Given the description of an element on the screen output the (x, y) to click on. 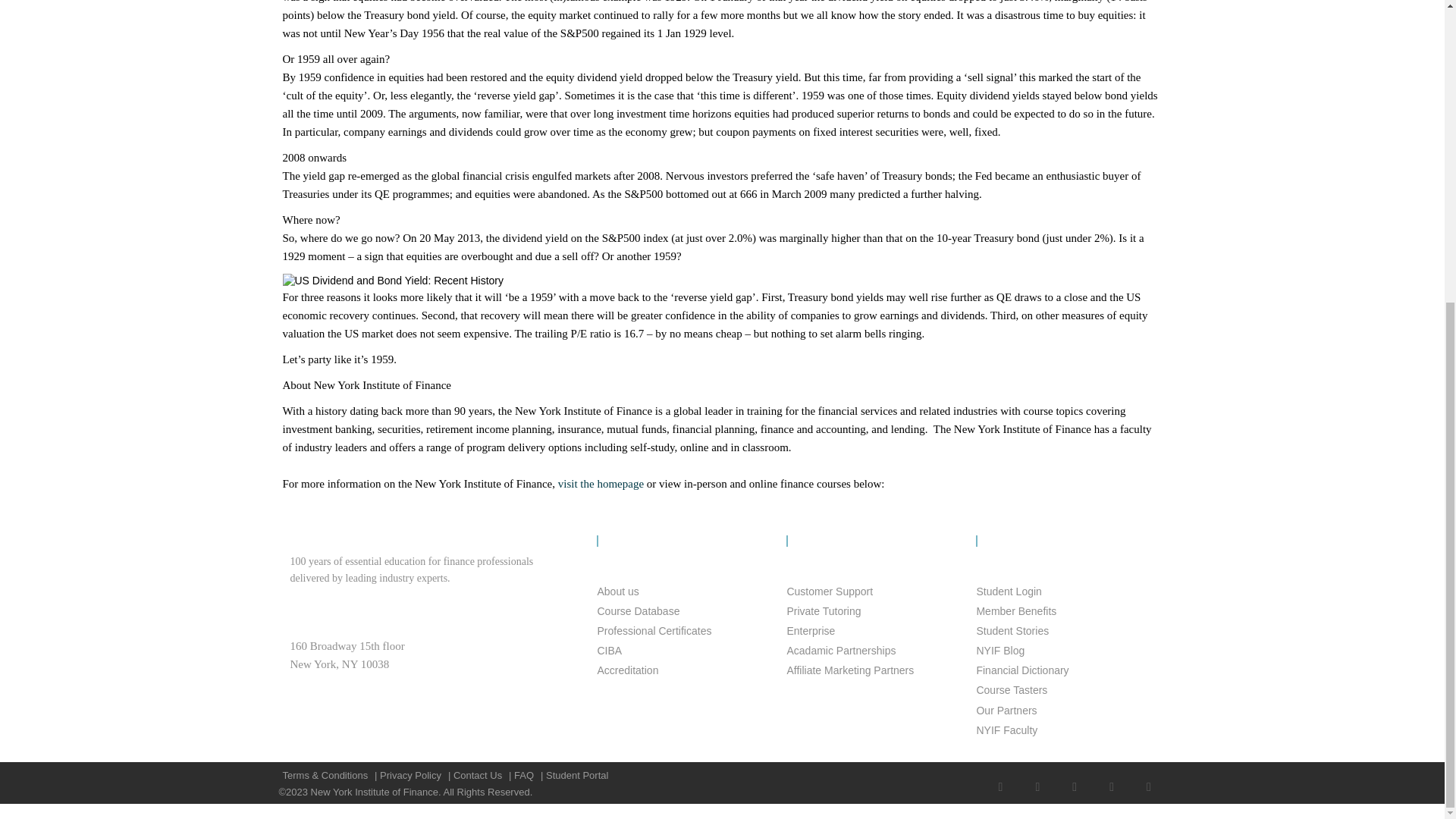
visit the homepage (600, 483)
Linkedin (1075, 776)
Face-book (1000, 776)
Instagram (1148, 776)
Twitter (1111, 776)
Youtube (1037, 776)
ABOUT (679, 540)
